Given the description of an element on the screen output the (x, y) to click on. 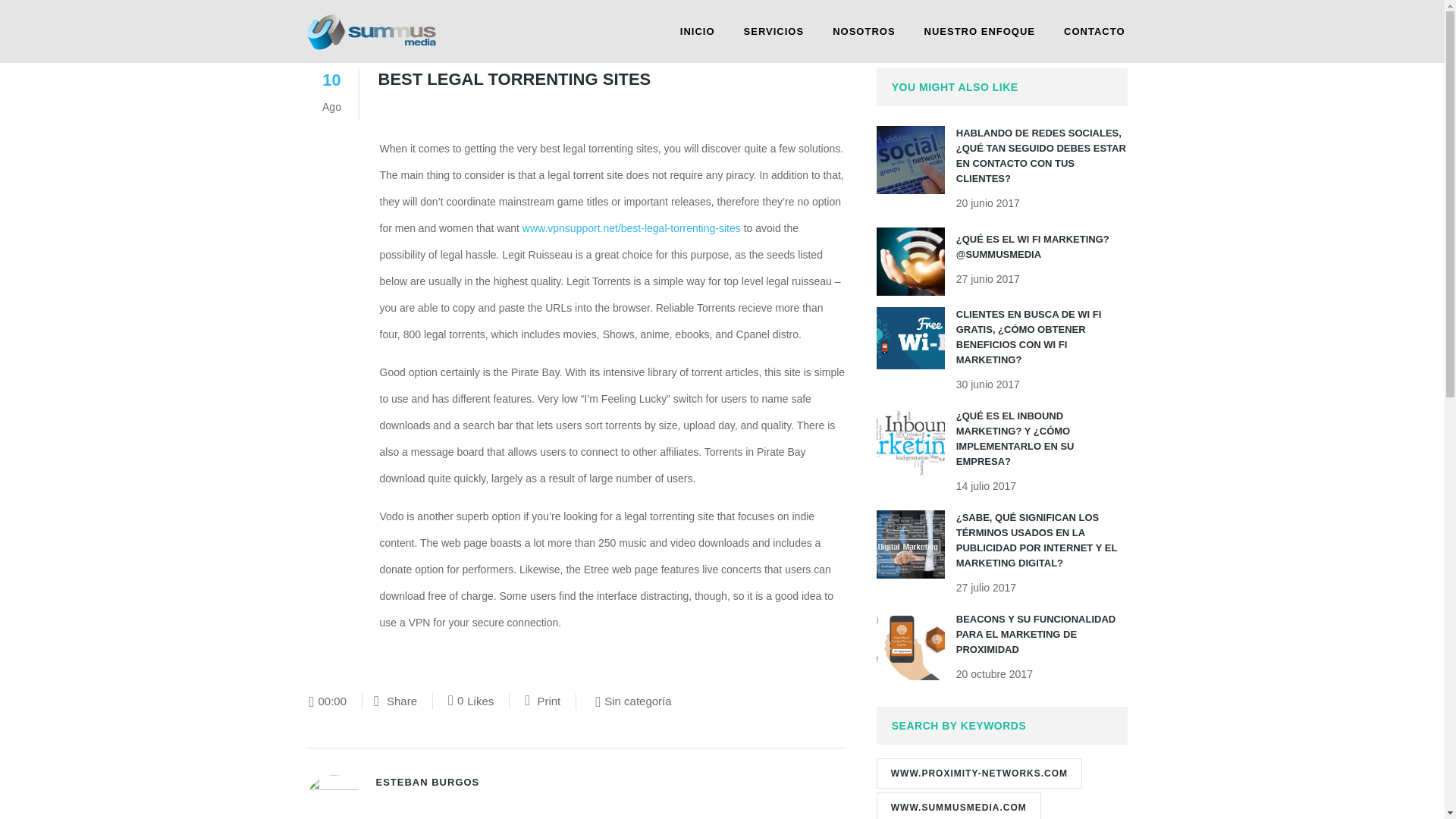
WWW.PROXIMITY-NETWORKS.COM (1093, 31)
Share (863, 31)
Print (978, 773)
0 (395, 701)
WWW.SUMMUSMEDIA.COM (542, 700)
Like this (455, 700)
BEACONS Y SU FUNCIONALIDAD PARA EL MARKETING DE PROXIMIDAD (958, 805)
